Given the description of an element on the screen output the (x, y) to click on. 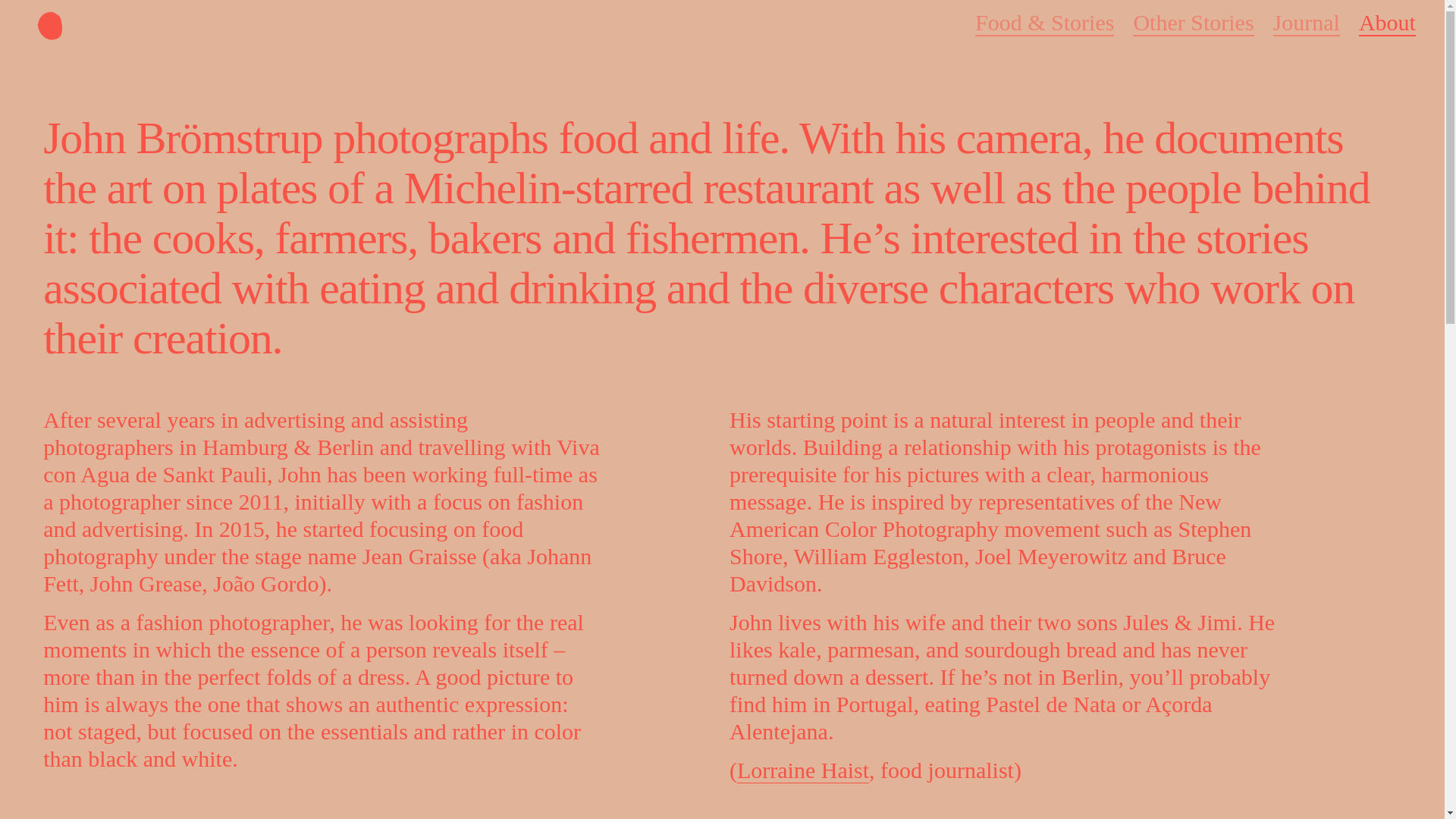
Journal (1305, 22)
Lorraine Haist (802, 769)
Other Stories (1192, 22)
About (1386, 22)
